Given the description of an element on the screen output the (x, y) to click on. 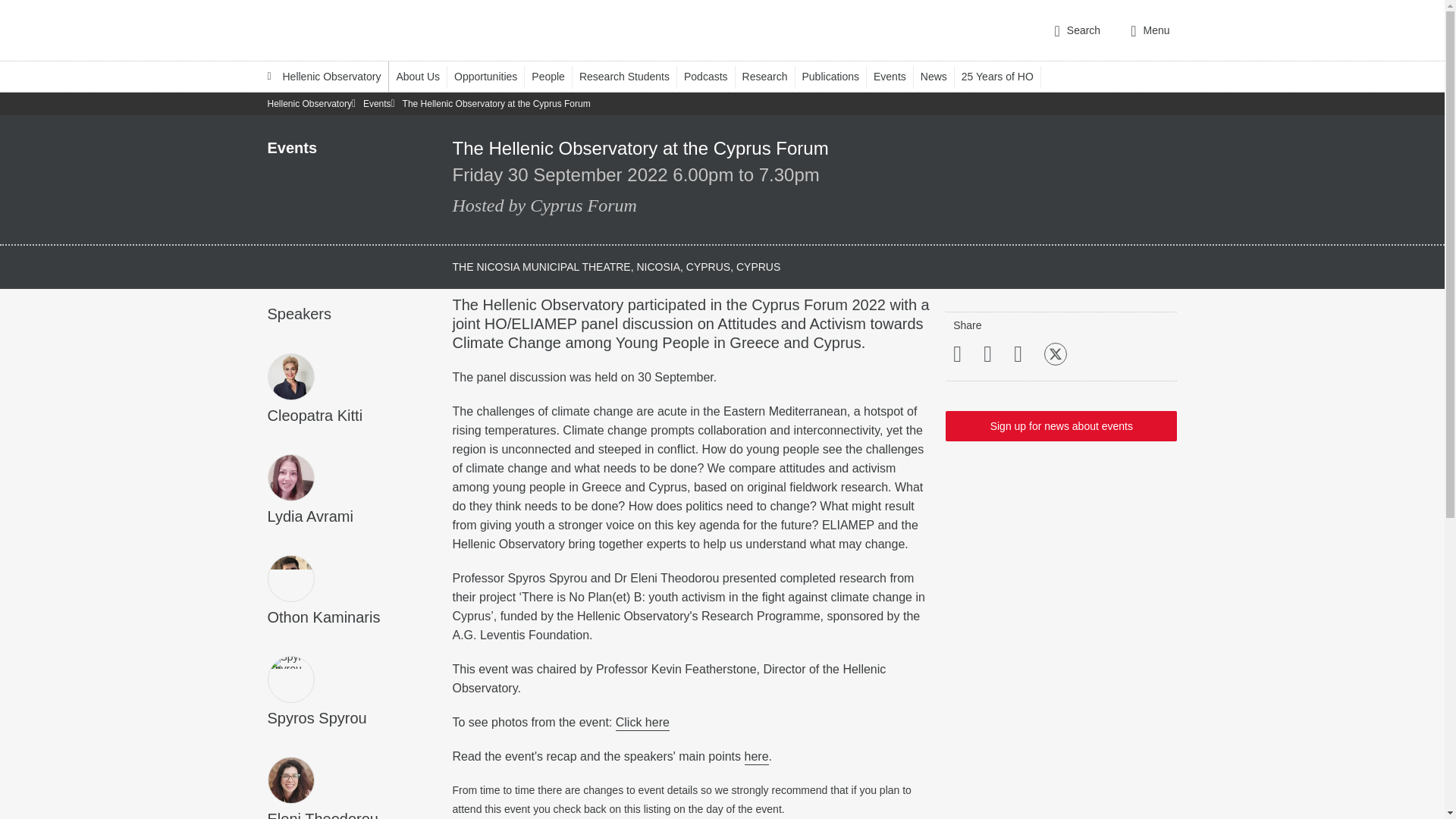
Research (772, 76)
About Us (425, 76)
Research (772, 76)
People (555, 76)
Podcasts and Videos (713, 76)
25 Years of HO (1004, 76)
Opportunities (492, 76)
25 Years of HO (1004, 76)
Hellenic Observatory (323, 76)
Opportunities (492, 76)
